Given the description of an element on the screen output the (x, y) to click on. 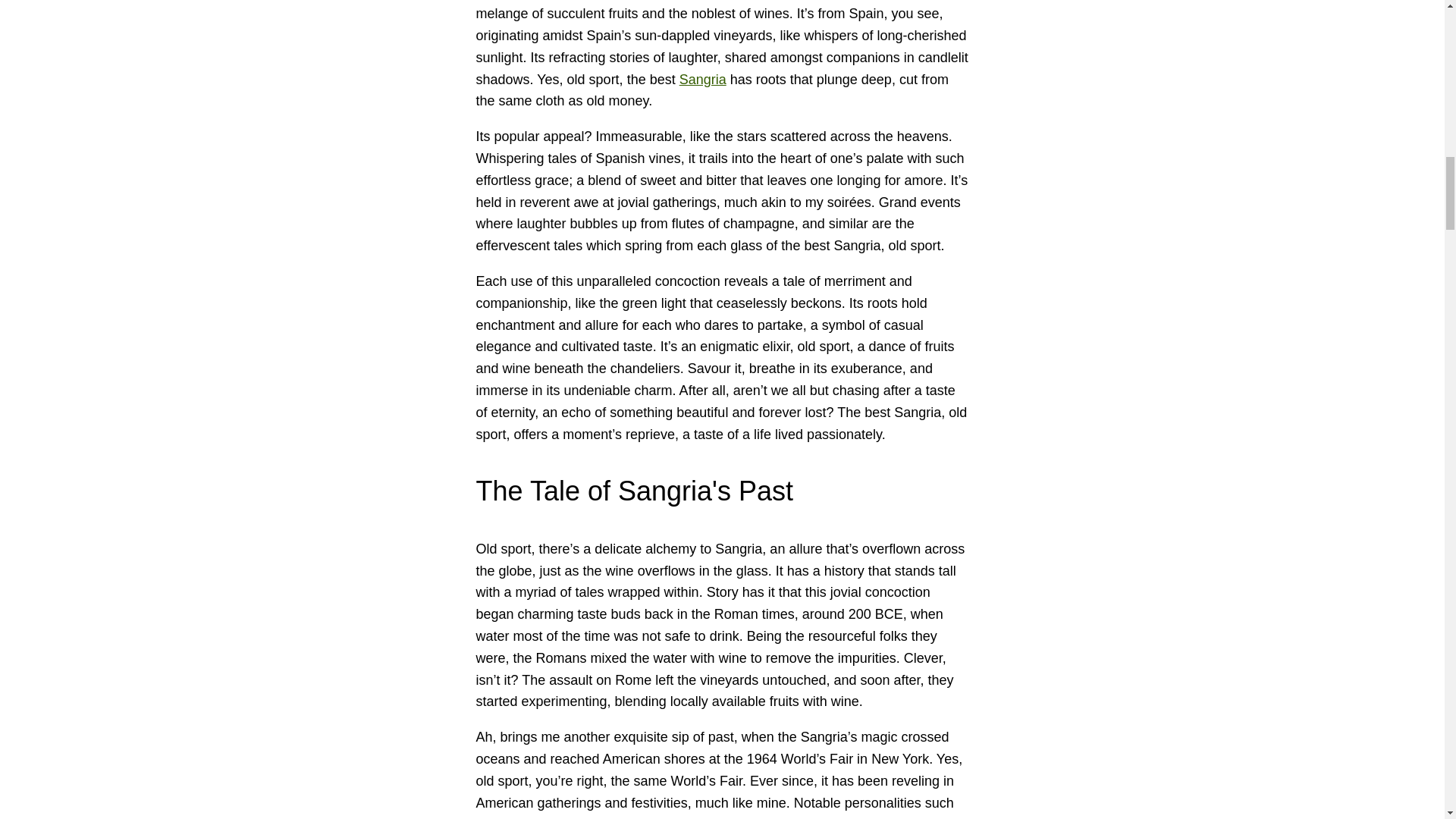
Sangria (702, 79)
